Given the description of an element on the screen output the (x, y) to click on. 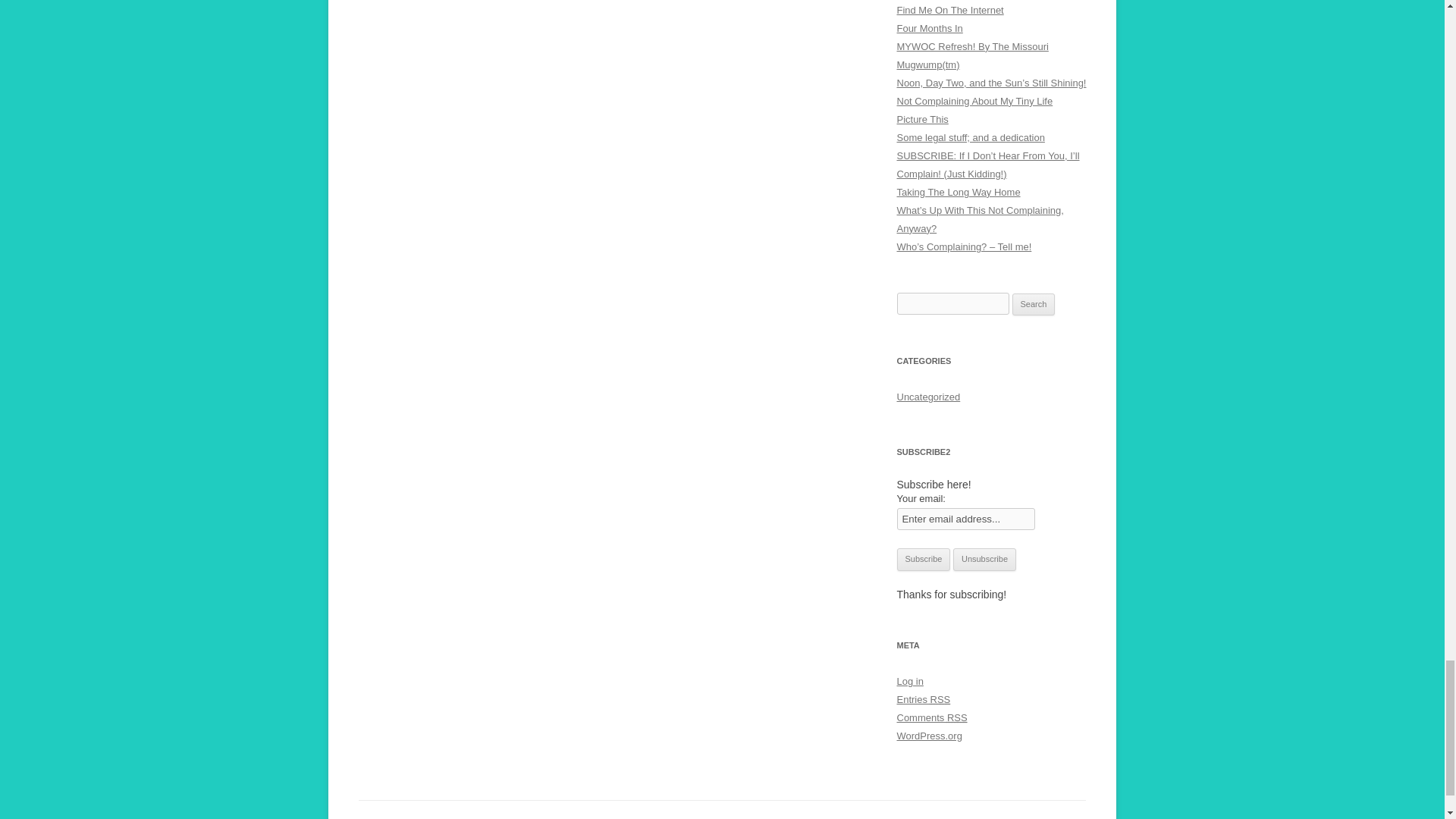
Search (1033, 304)
Really Simple Syndication (940, 699)
Enter email address... (965, 518)
Unsubscribe (984, 558)
Subscribe (923, 558)
Really Simple Syndication (957, 717)
